Given the description of an element on the screen output the (x, y) to click on. 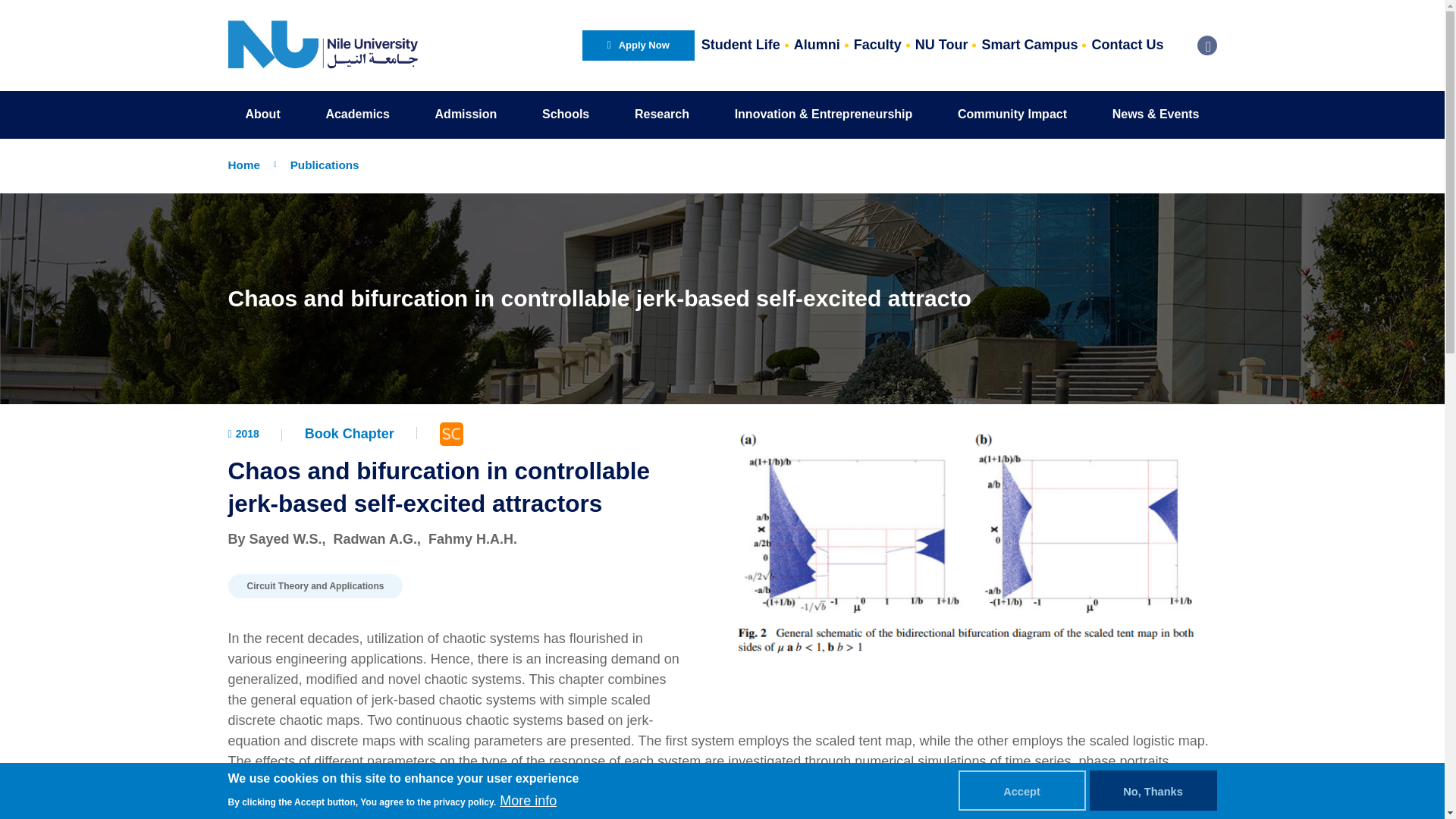
Smart Campus (1029, 45)
Home (321, 45)
Apply Now (638, 45)
About (262, 114)
NU Tour (941, 45)
Faculty (877, 45)
Schools (565, 114)
Admission (466, 114)
Alumni (817, 45)
Academics (357, 114)
Student Life (740, 45)
Contact Us (1127, 45)
